Given the description of an element on the screen output the (x, y) to click on. 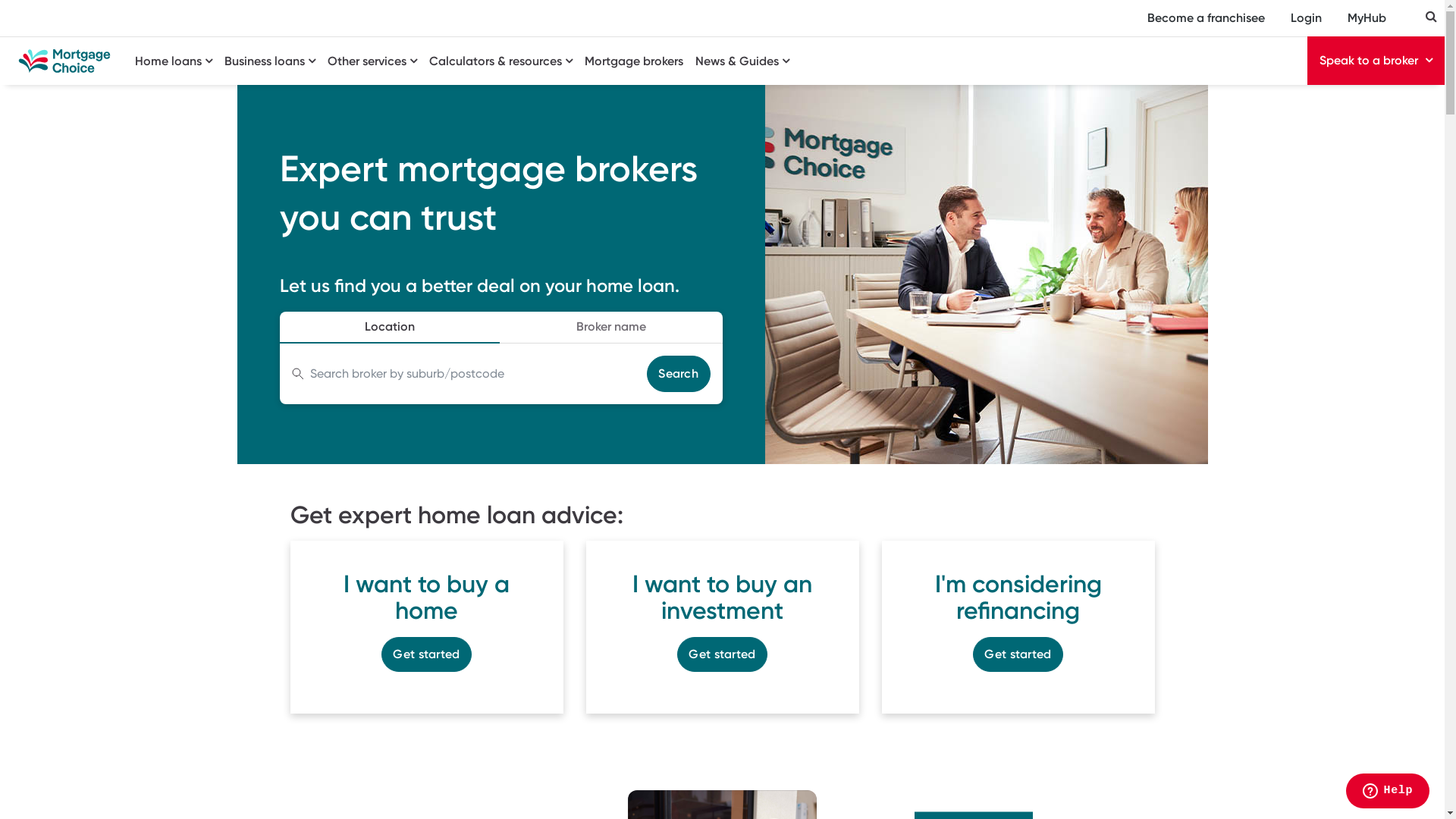
I'm considering refinancing
Get started Element type: text (1017, 626)
Login Element type: text (1305, 18)
MyHub Element type: text (1366, 18)
Mortgage brokers Element type: text (633, 59)
I want to buy a home
Get started Element type: text (425, 626)
Calculators & resources Element type: text (500, 59)
Location Element type: text (388, 327)
News & Guides Element type: text (742, 59)
Business loans Element type: text (269, 59)
Search Element type: text (678, 373)
Home loans Element type: text (173, 59)
Become a franchisee Element type: text (1206, 18)
Speak to a broker Element type: text (1375, 60)
Other services Element type: text (372, 59)
Broker name Element type: text (610, 326)
Opens a widget where you can chat to one of our agents Element type: hover (1387, 792)
I want to buy an investment
Get started Element type: text (721, 626)
